Given the description of an element on the screen output the (x, y) to click on. 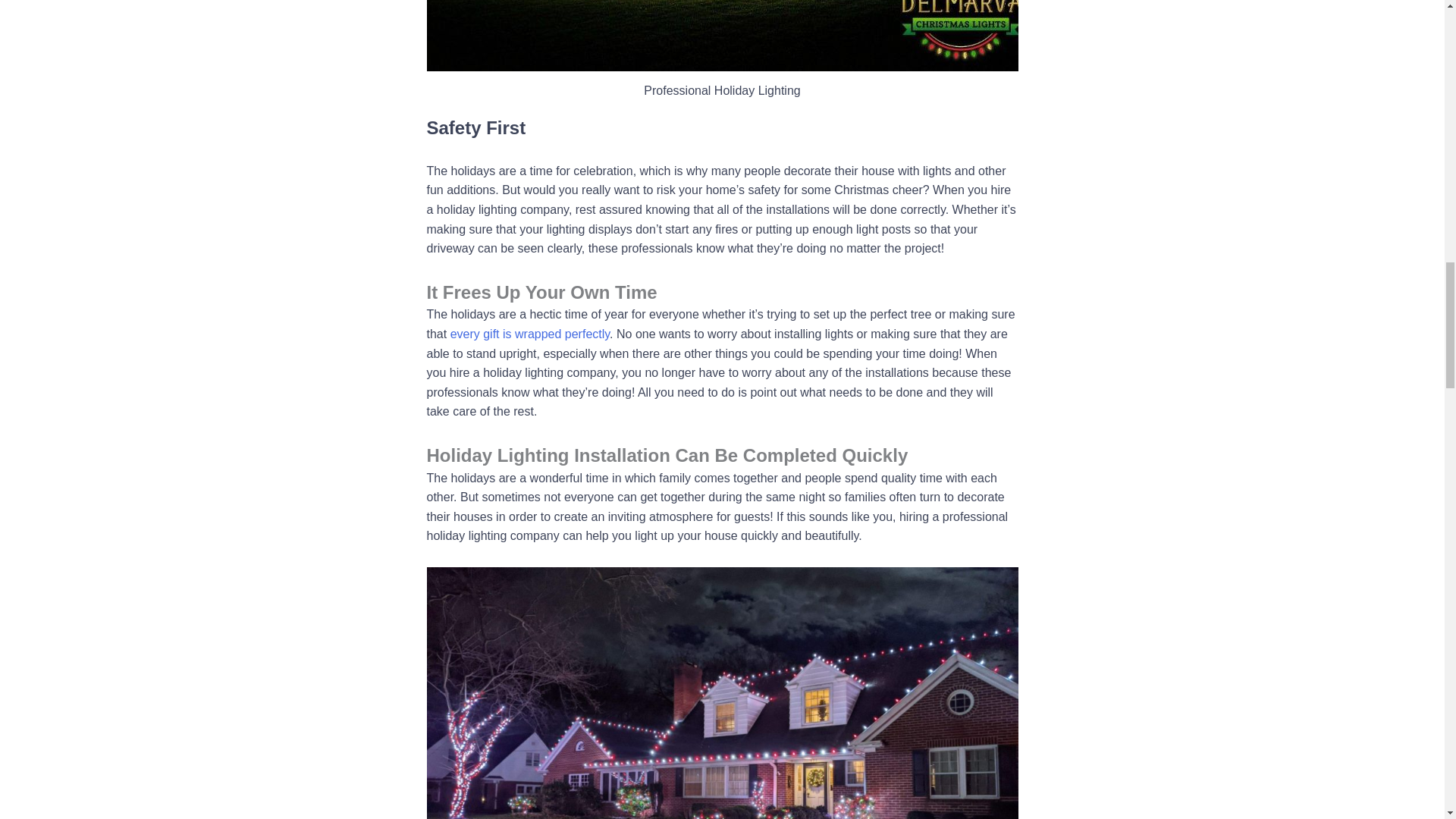
Professional Holiday Lighting (721, 35)
every gift is wrapped perfectly (529, 333)
